Given the description of an element on the screen output the (x, y) to click on. 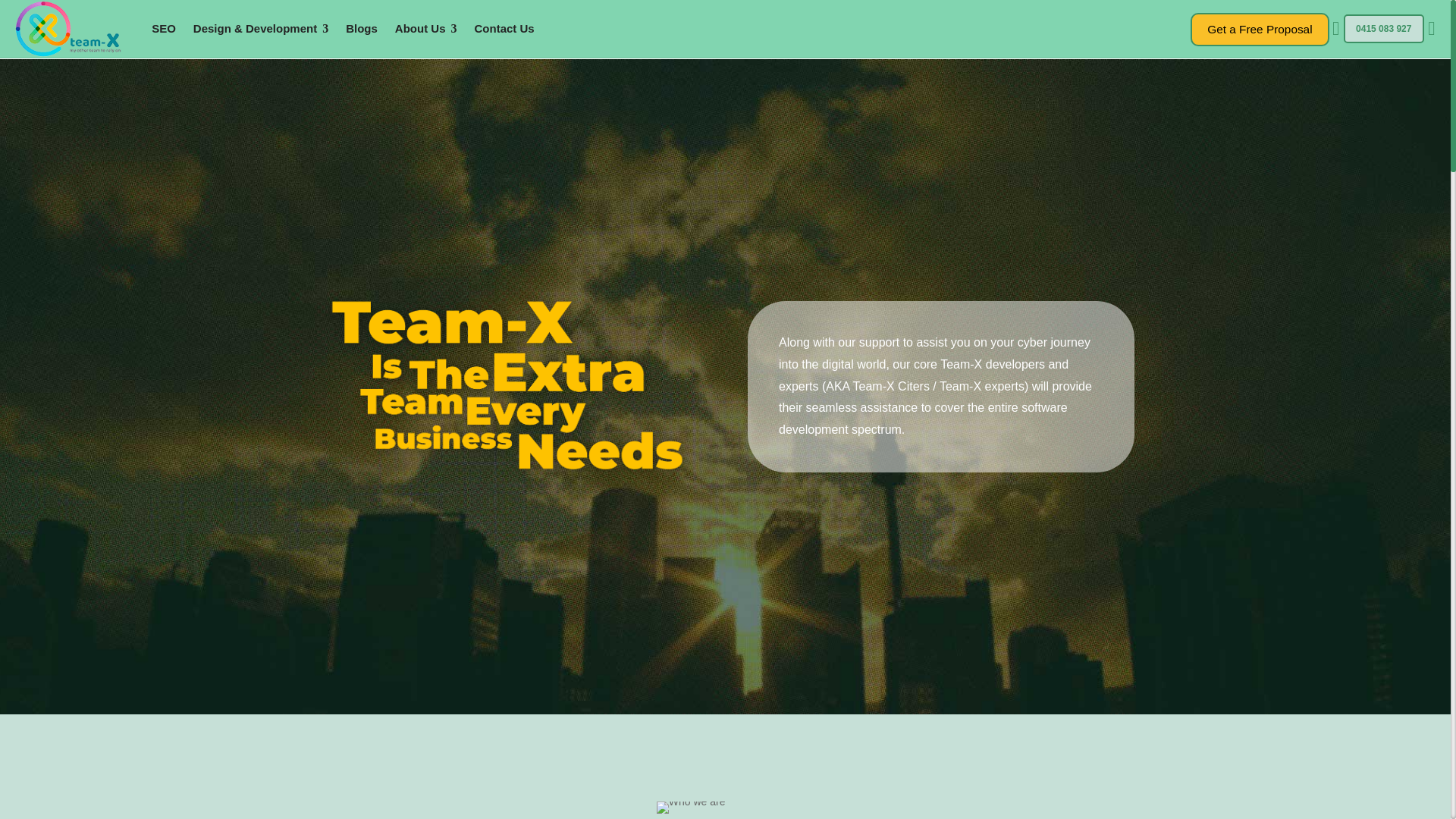
0415 083 927 (1383, 28)
0415 083 927 (1382, 28)
Contact Us (504, 28)
Text-1-min (509, 386)
Element-1-min (445, 816)
Type-1-min (690, 807)
About Us (425, 28)
